Given the description of an element on the screen output the (x, y) to click on. 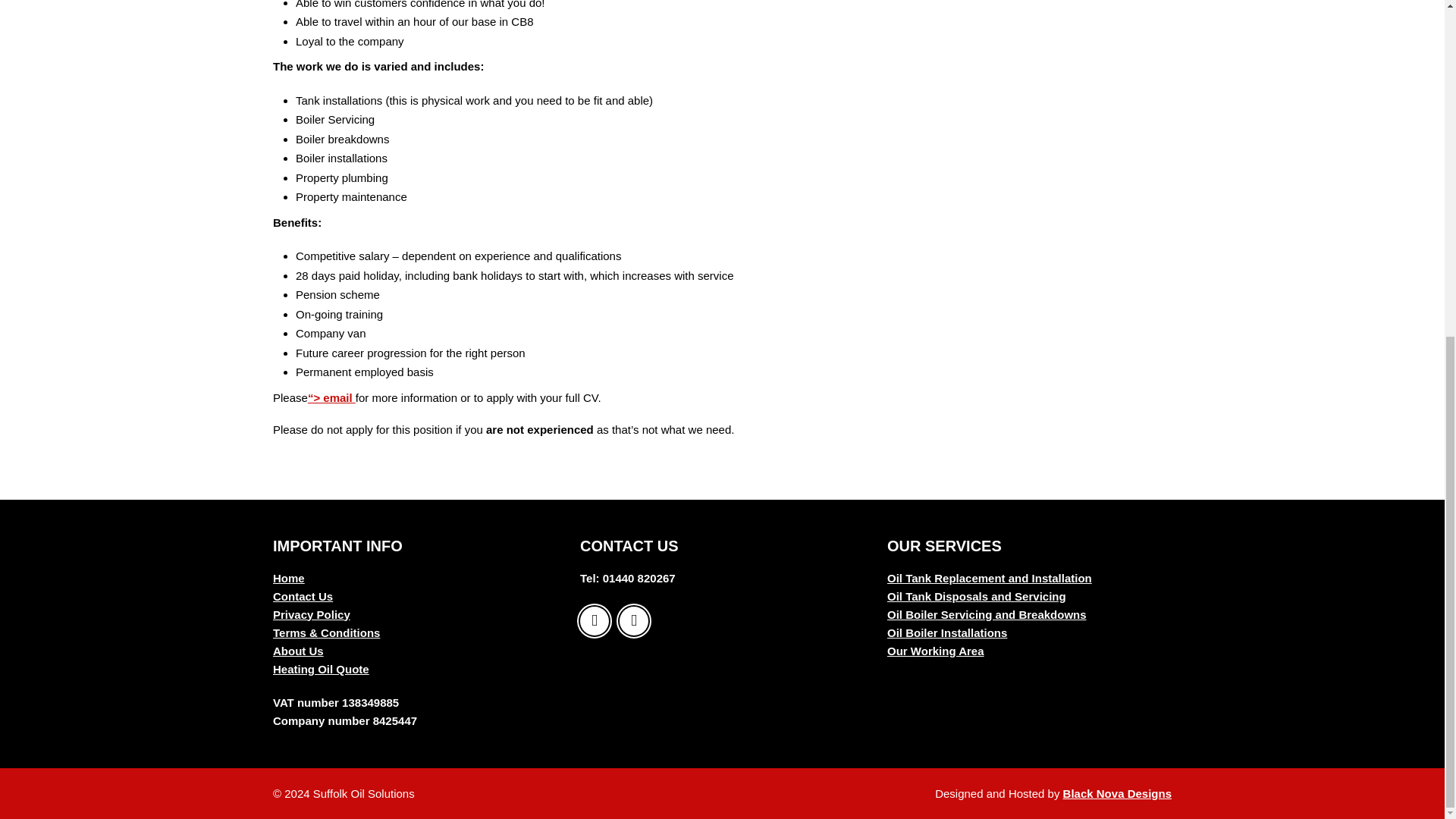
Heating Oil Quote (321, 667)
Contact Us (303, 594)
Home (288, 576)
Black Nova Designs (1117, 792)
Oil Boiler Servicing and Breakdowns (986, 613)
Oil Boiler Installations (946, 631)
Privacy Policy (311, 613)
Oil Tank Disposals and Servicing (975, 594)
Oil Tank Replacement and Installation (989, 576)
Our Working Area (935, 649)
About Us (298, 649)
